Given the description of an element on the screen output the (x, y) to click on. 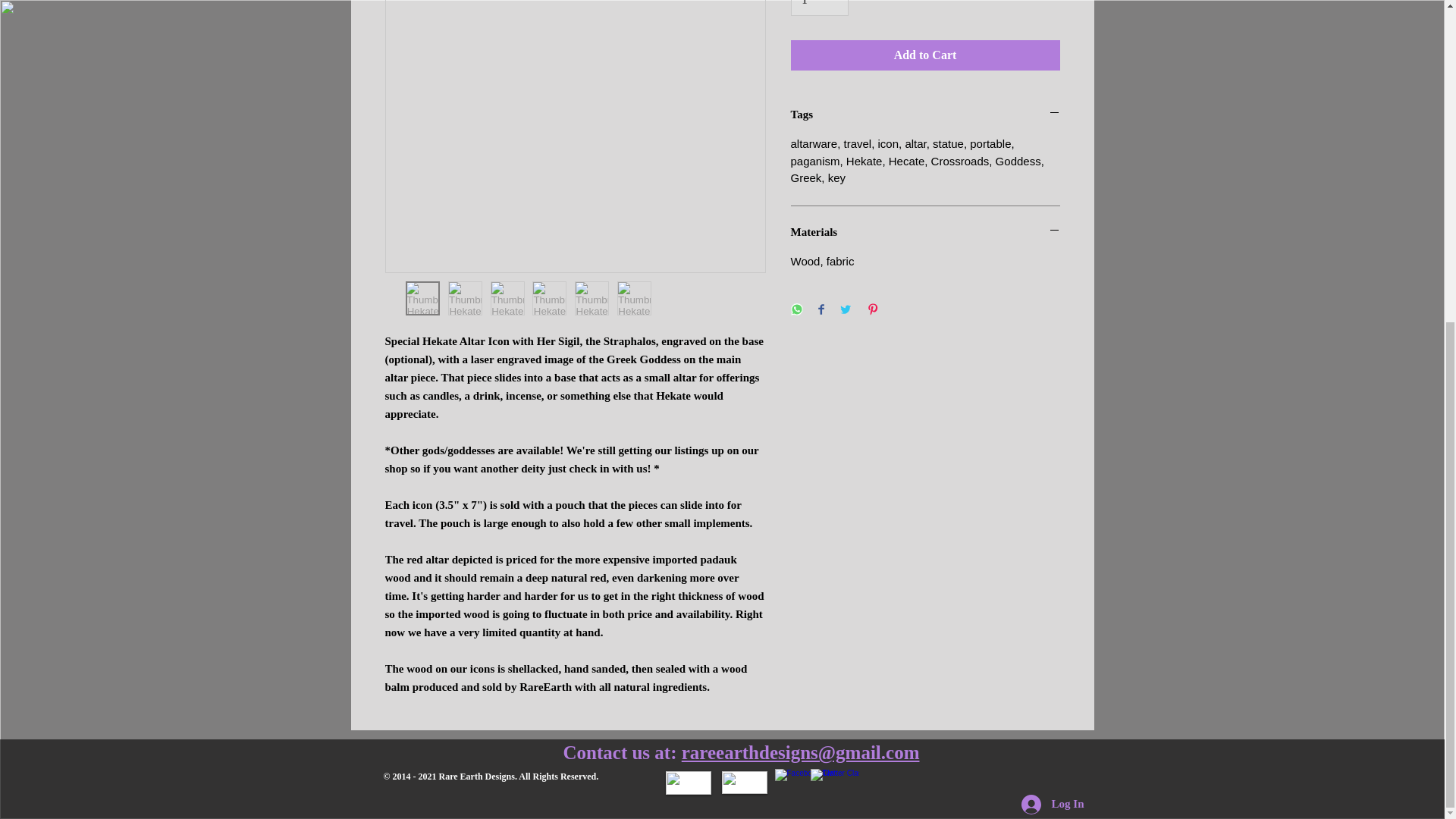
ebay logo.jpg (744, 782)
Materials (924, 232)
Add to Cart (924, 55)
1 (818, 8)
etsy logo.jpg (688, 782)
Tags (924, 114)
